Given the description of an element on the screen output the (x, y) to click on. 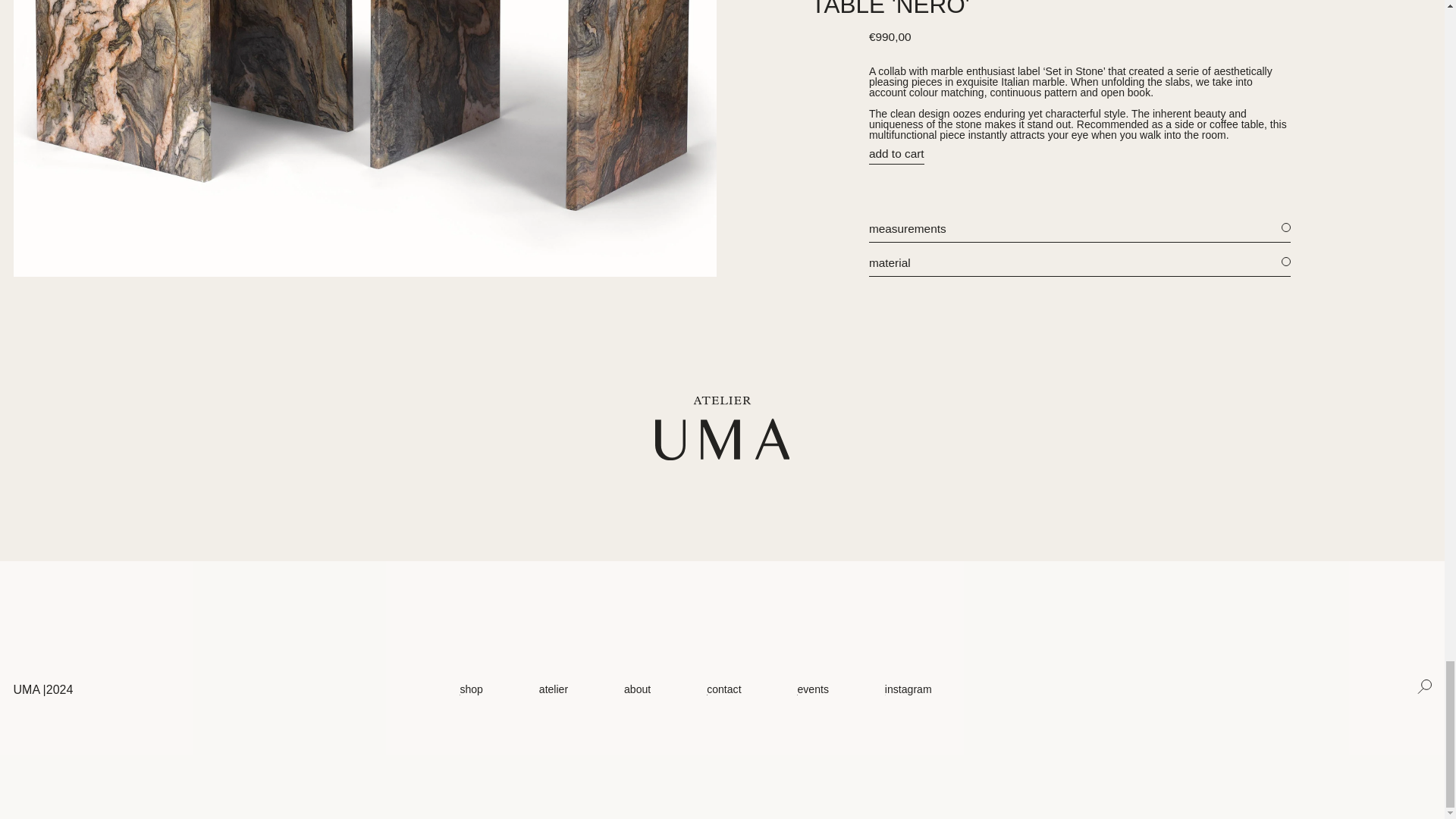
about (637, 689)
shop (471, 689)
events (812, 689)
instagram (908, 689)
contact (723, 689)
atelier (552, 689)
